Given the description of an element on the screen output the (x, y) to click on. 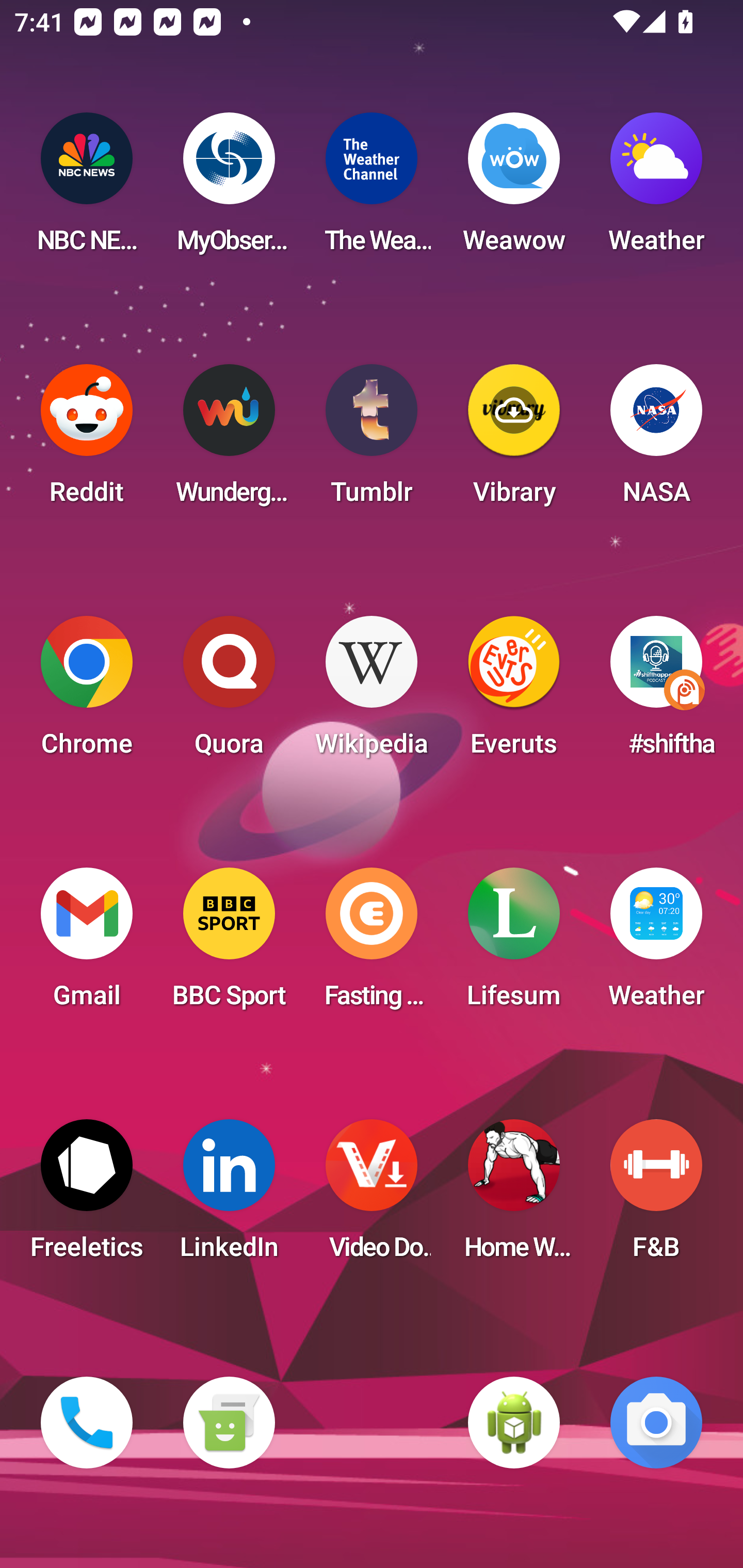
NBC NEWS (86, 188)
MyObservatory (228, 188)
The Weather Channel (371, 188)
Weawow (513, 188)
Weather (656, 188)
Reddit (86, 440)
Wunderground (228, 440)
Tumblr (371, 440)
Vibrary (513, 440)
NASA (656, 440)
Chrome (86, 692)
Quora (228, 692)
Wikipedia (371, 692)
Everuts (513, 692)
#shifthappens in the Digital Workplace Podcast (656, 692)
Gmail (86, 943)
BBC Sport (228, 943)
Fasting Coach (371, 943)
Lifesum (513, 943)
Weather (656, 943)
Freeletics (86, 1195)
LinkedIn (228, 1195)
Video Downloader & Ace Player (371, 1195)
Home Workout (513, 1195)
F&B (656, 1195)
Phone (86, 1422)
Messaging (228, 1422)
WebView Browser Tester (513, 1422)
Camera (656, 1422)
